Given the description of an element on the screen output the (x, y) to click on. 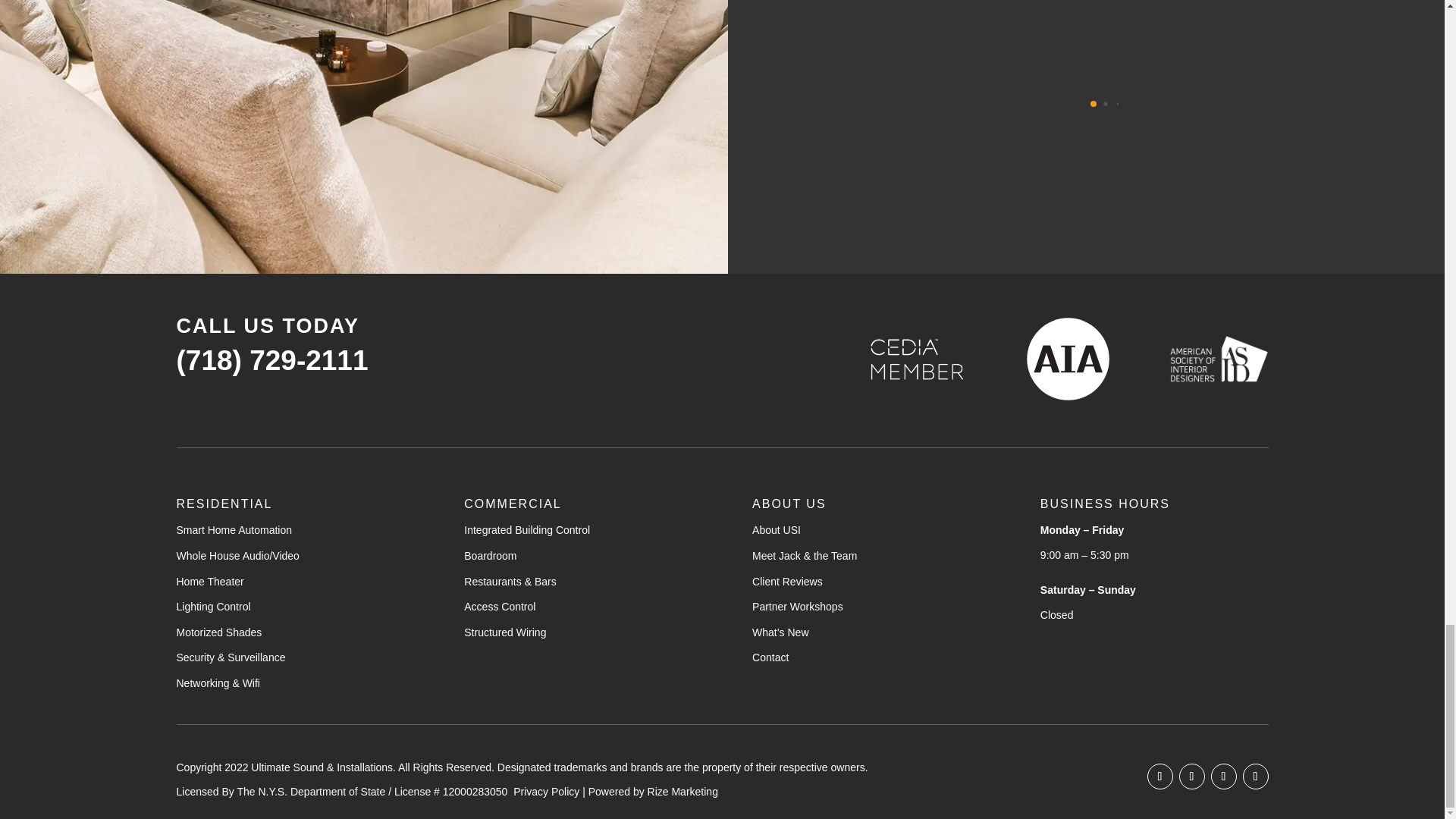
Home Theater (209, 581)
cedia-light (916, 358)
asid-white (1218, 358)
aia-white (1068, 359)
Follow on Instagram (1190, 776)
Follow on Facebook (1159, 776)
Motorized Shades (219, 632)
Smart Home Automation (234, 530)
Lighting Control (213, 606)
